Given the description of an element on the screen output the (x, y) to click on. 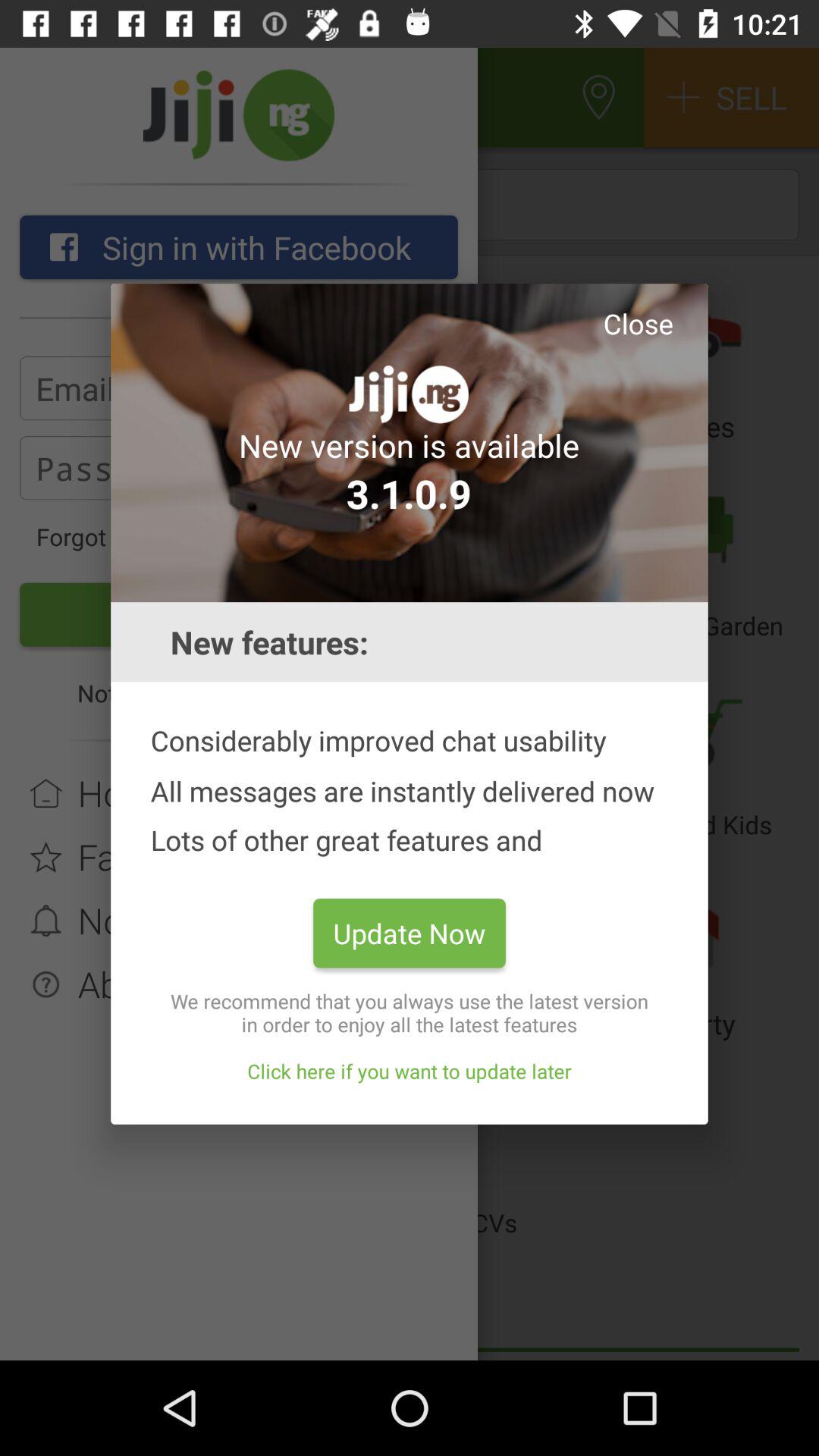
turn off the click here if icon (409, 1070)
